Given the description of an element on the screen output the (x, y) to click on. 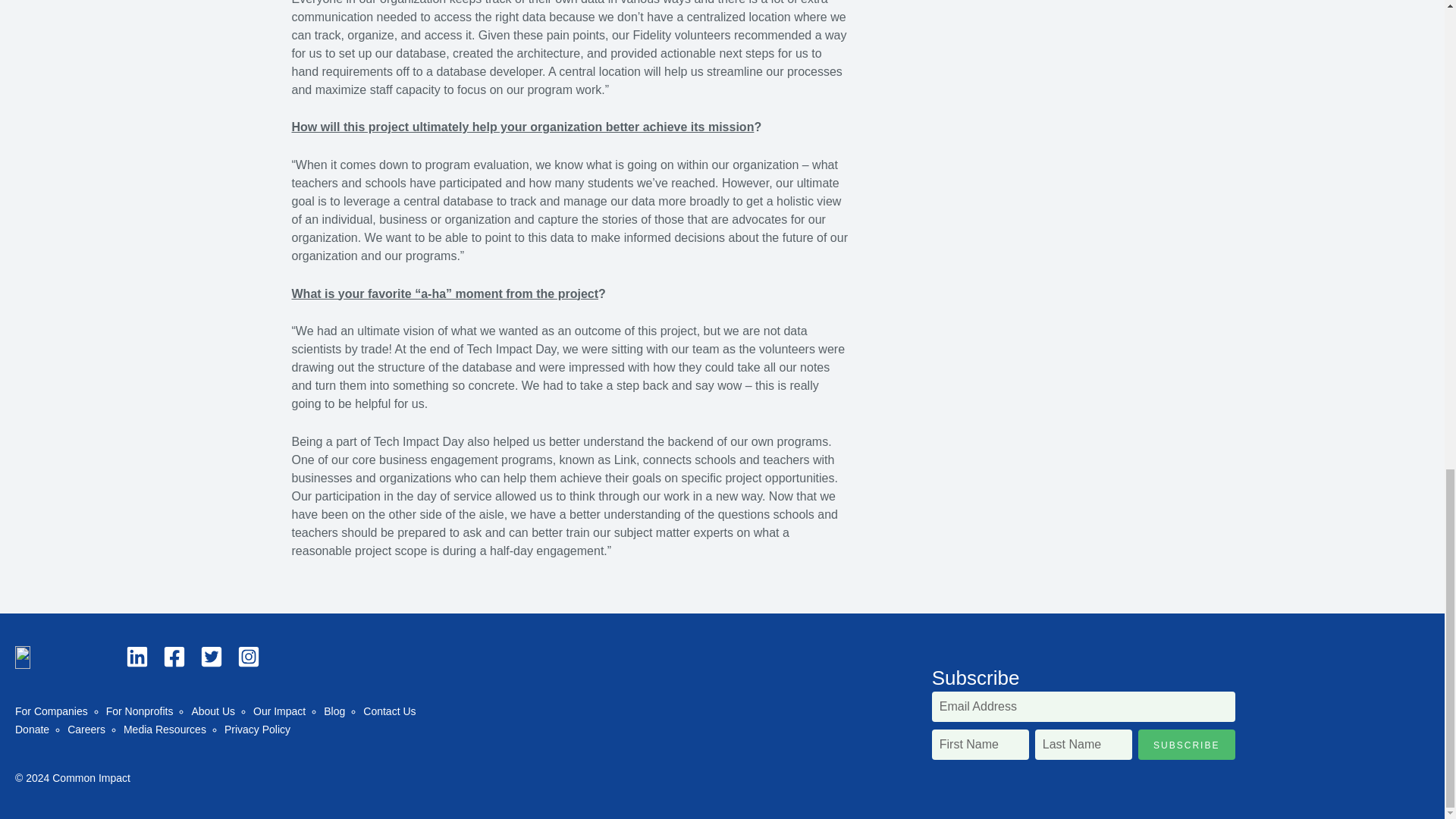
Last Name (1083, 744)
Email Address (1082, 706)
Subscribe (1186, 744)
First Name (980, 744)
